Given the description of an element on the screen output the (x, y) to click on. 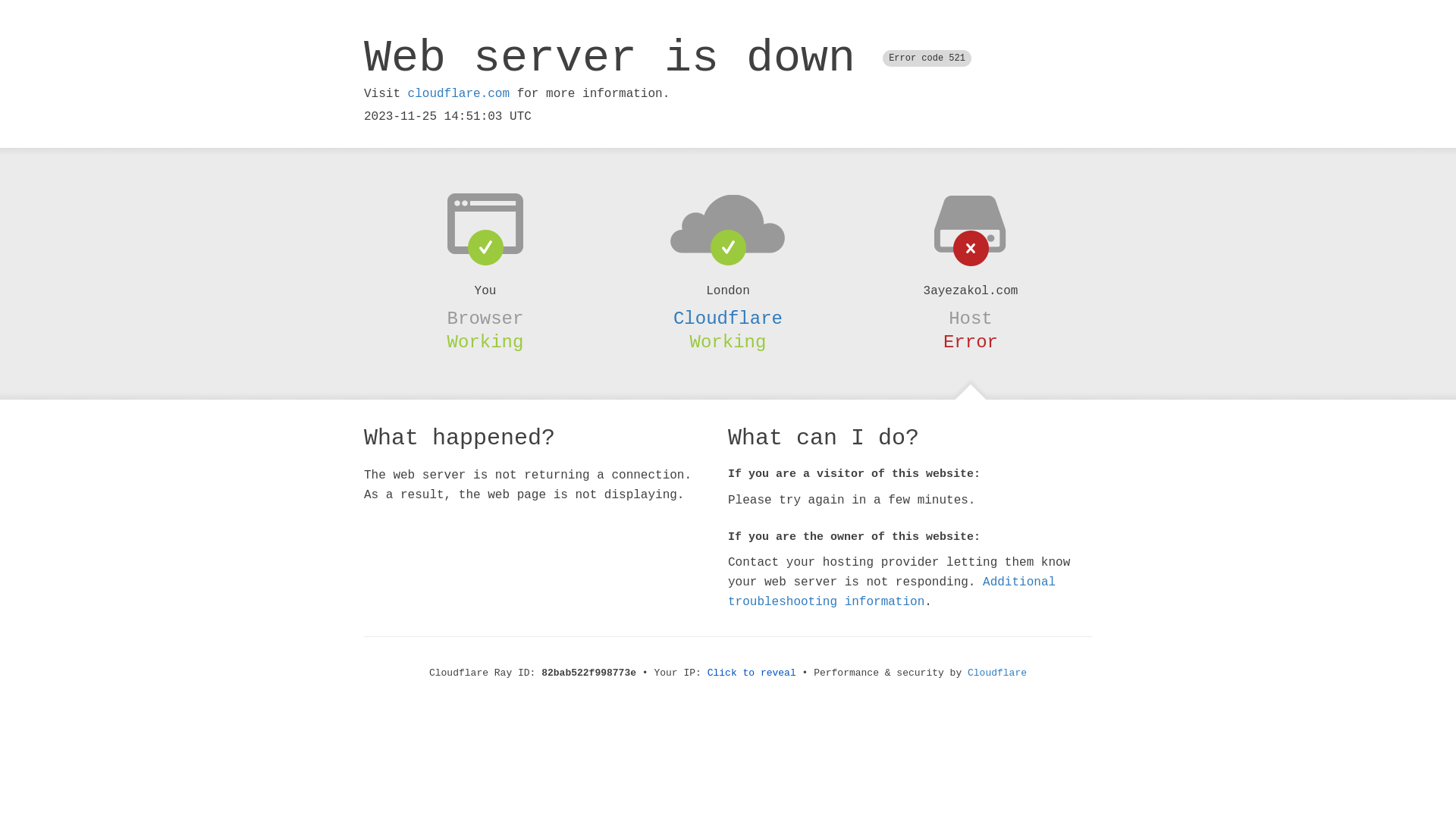
Cloudflare Element type: text (727, 318)
Click to reveal Element type: text (751, 672)
cloudflare.com Element type: text (458, 93)
Cloudflare Element type: text (996, 672)
Additional troubleshooting information Element type: text (891, 591)
